Given the description of an element on the screen output the (x, y) to click on. 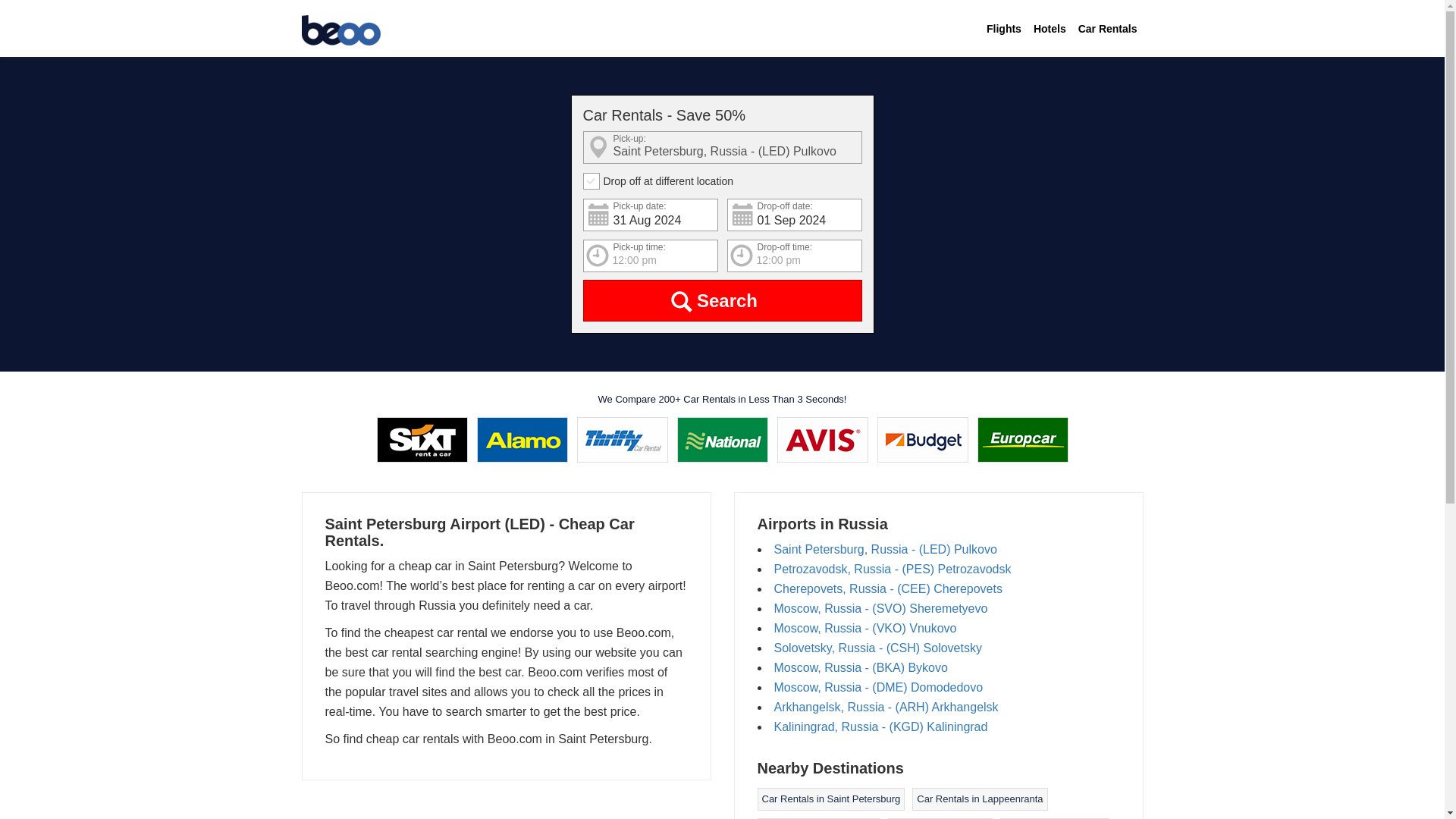
Search (721, 300)
Car Rentals in Saint Petersburg (830, 798)
Hotels (1049, 28)
Flights (1003, 28)
Car Rentals in Lappeenranta (979, 798)
Car Rentals (1106, 28)
